Given the description of an element on the screen output the (x, y) to click on. 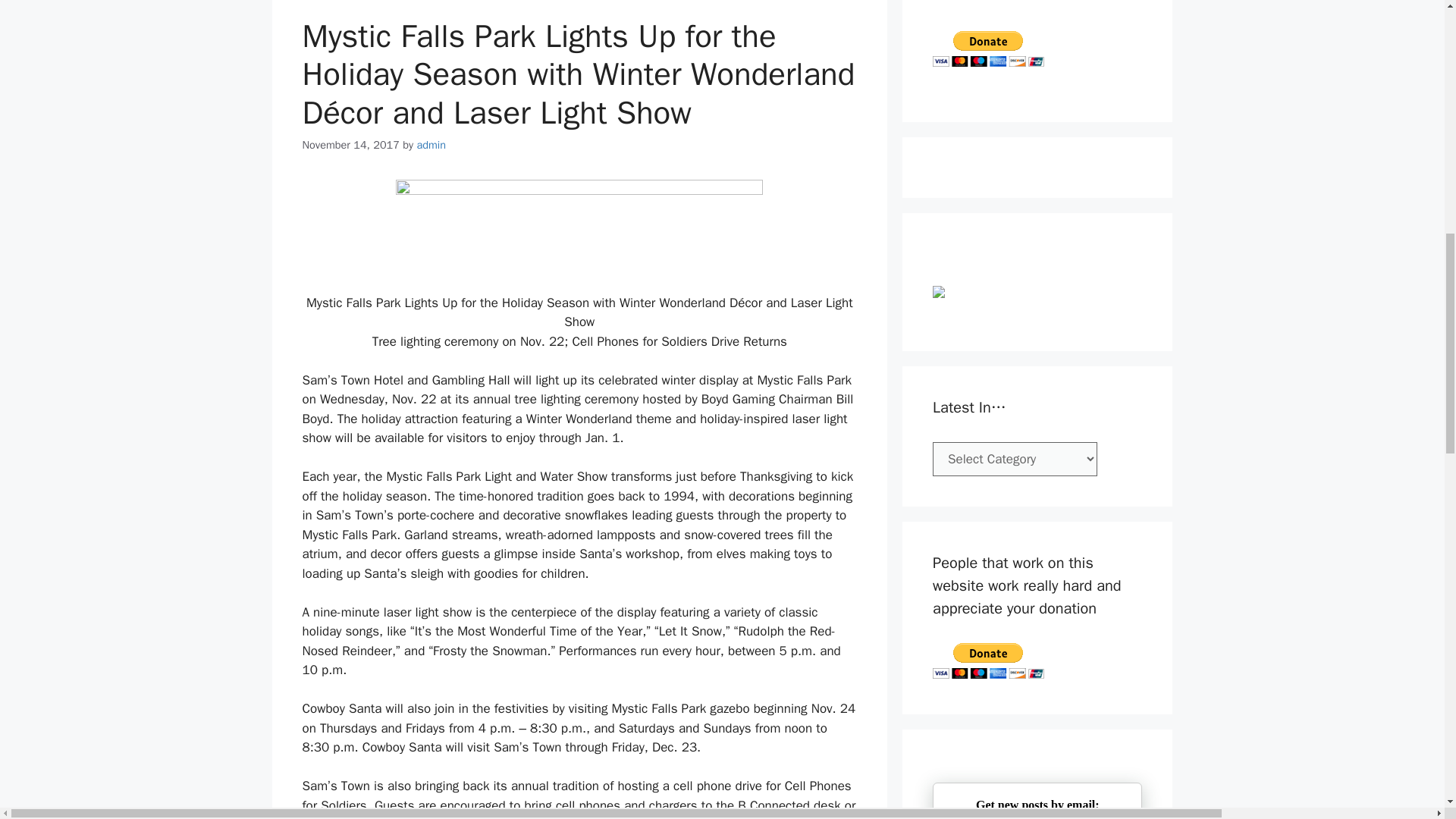
View all posts by admin (430, 144)
admin (430, 144)
